Given the description of an element on the screen output the (x, y) to click on. 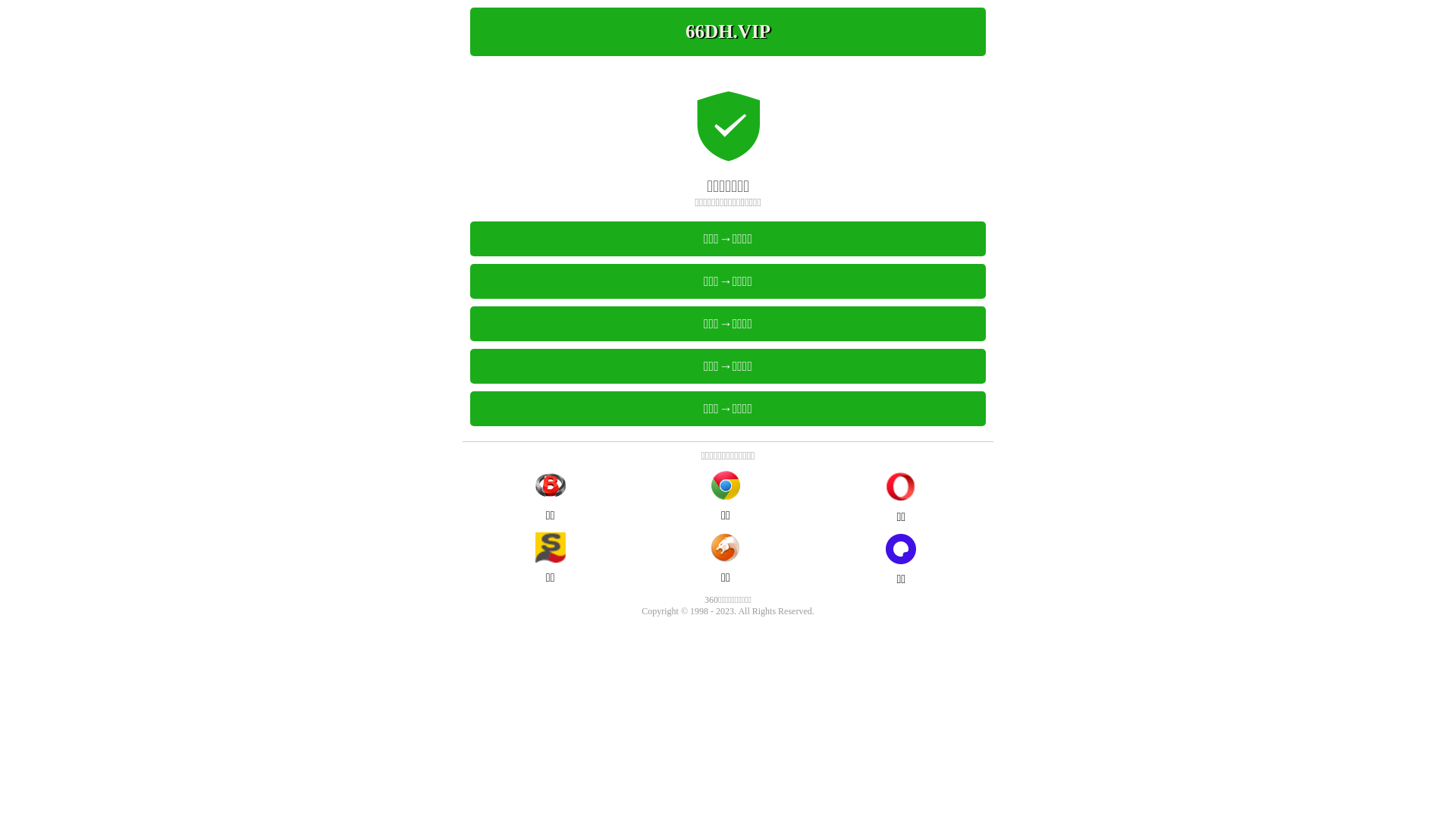
66DH.VIP Element type: text (727, 31)
